Given the description of an element on the screen output the (x, y) to click on. 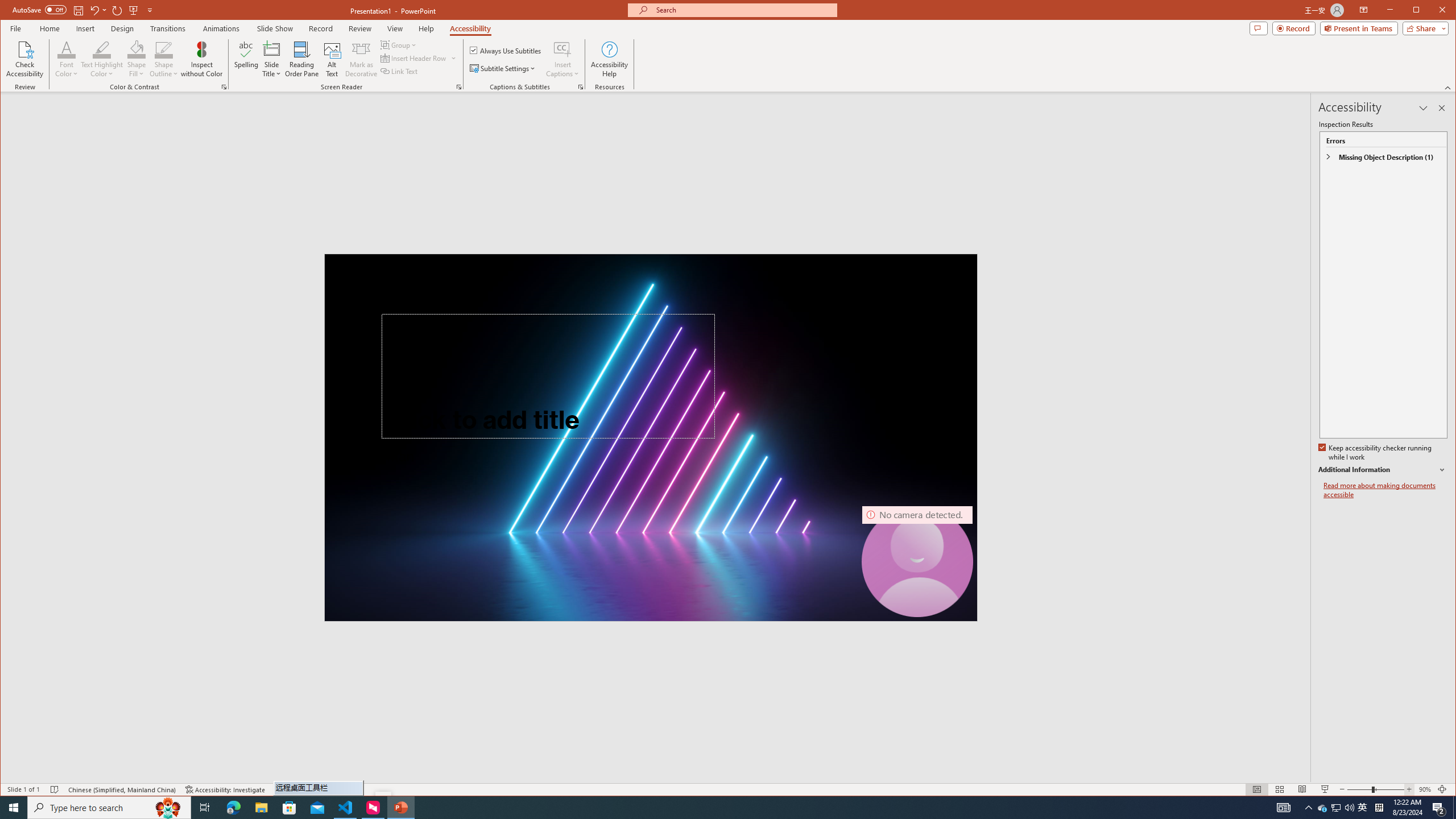
Always Use Subtitles (505, 49)
Camera 7, No camera detected. (917, 561)
Zoom 90% (1424, 789)
